Given the description of an element on the screen output the (x, y) to click on. 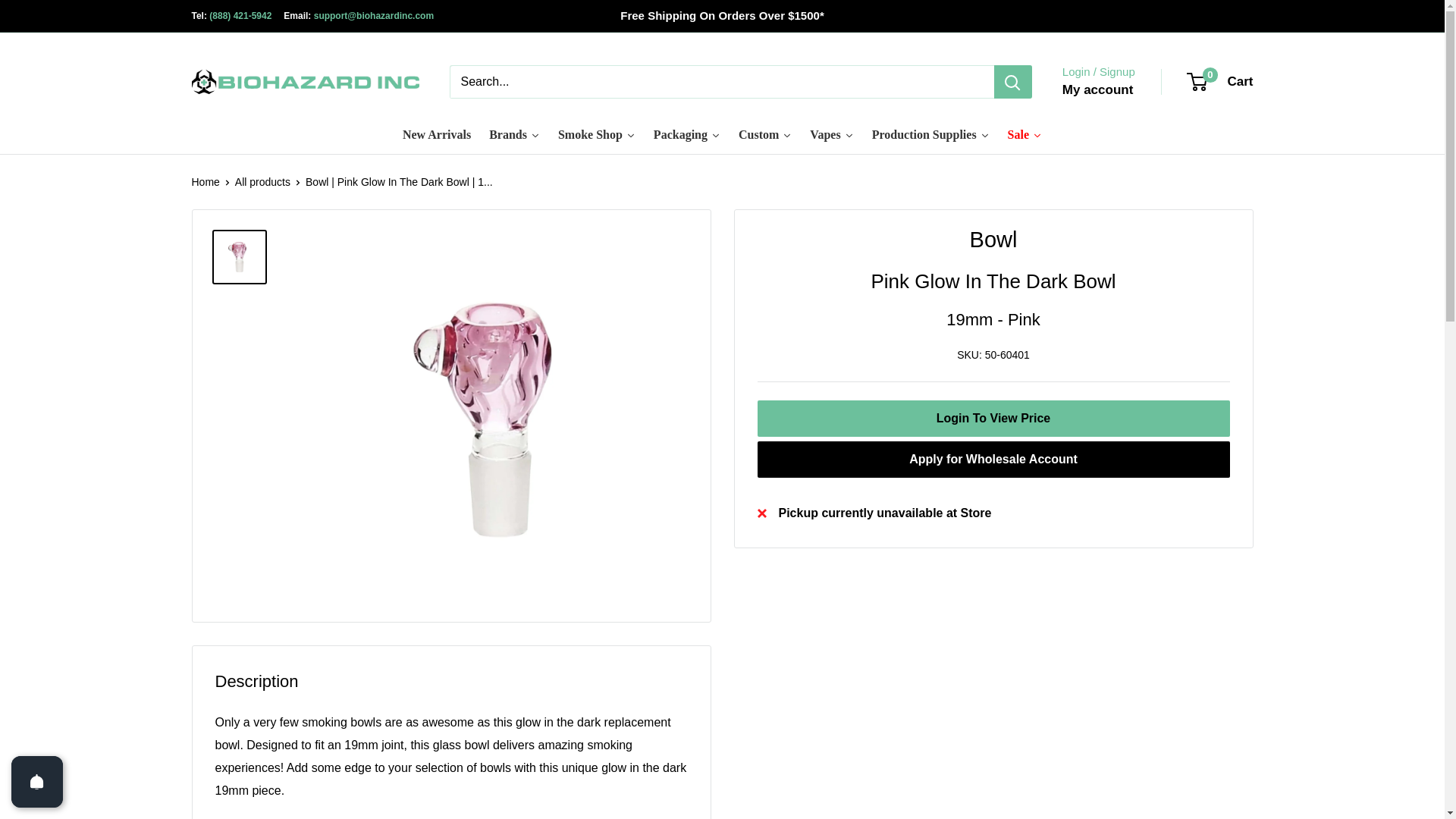
Packaging (687, 134)
Sale (1024, 134)
Brands (514, 134)
Smoke Shop (596, 134)
Custom (764, 134)
New Arrivals (436, 134)
Production Supplies (930, 134)
Vapes (830, 134)
